Given the description of an element on the screen output the (x, y) to click on. 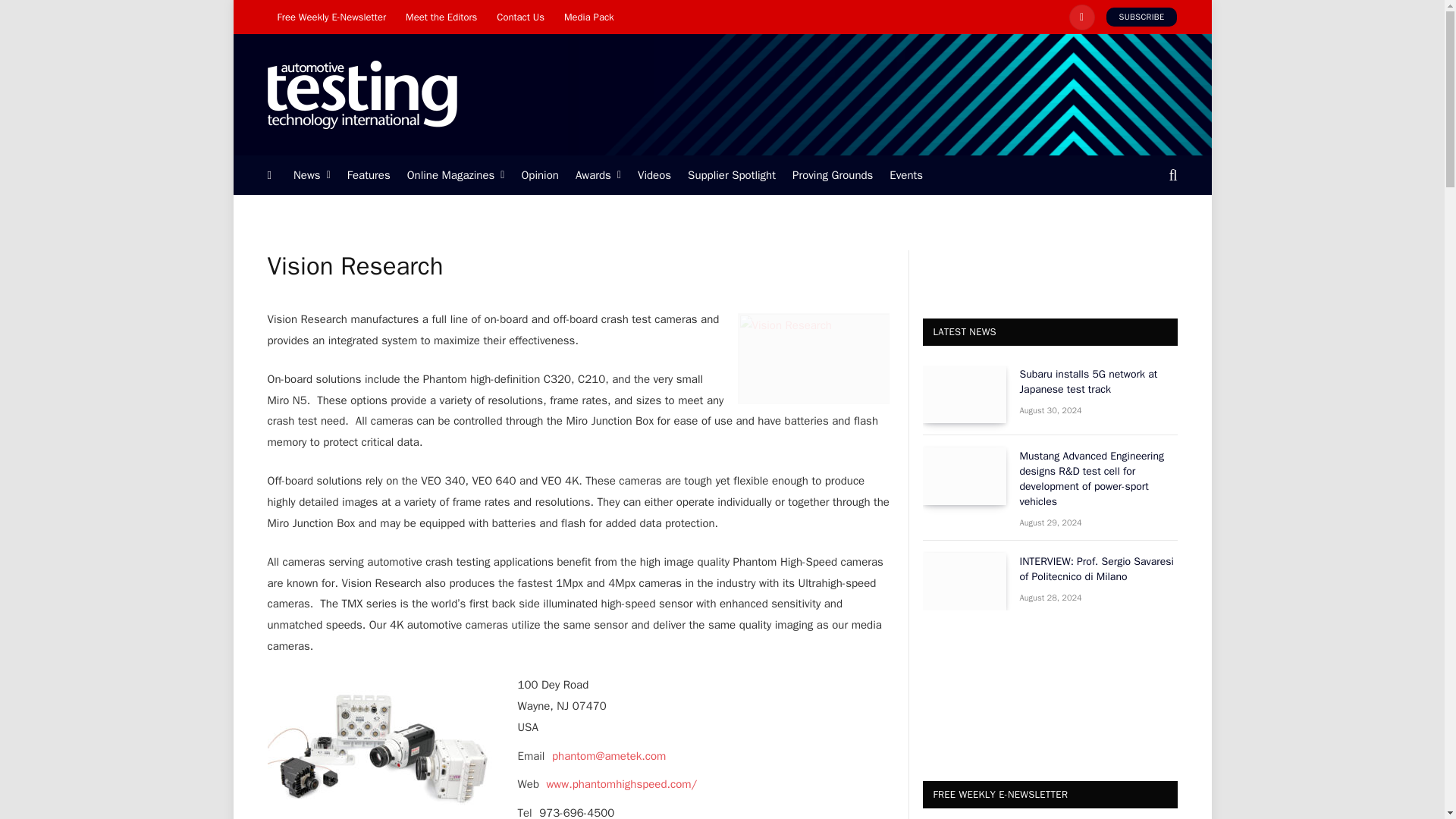
Vision Research (812, 358)
Automotive Testing Technology International (361, 94)
Subaru installs 5G network at Japanese test track (963, 394)
INTERVIEW: Prof. Sergio Savaresi of Politecnico di Milano (963, 581)
